Given the description of an element on the screen output the (x, y) to click on. 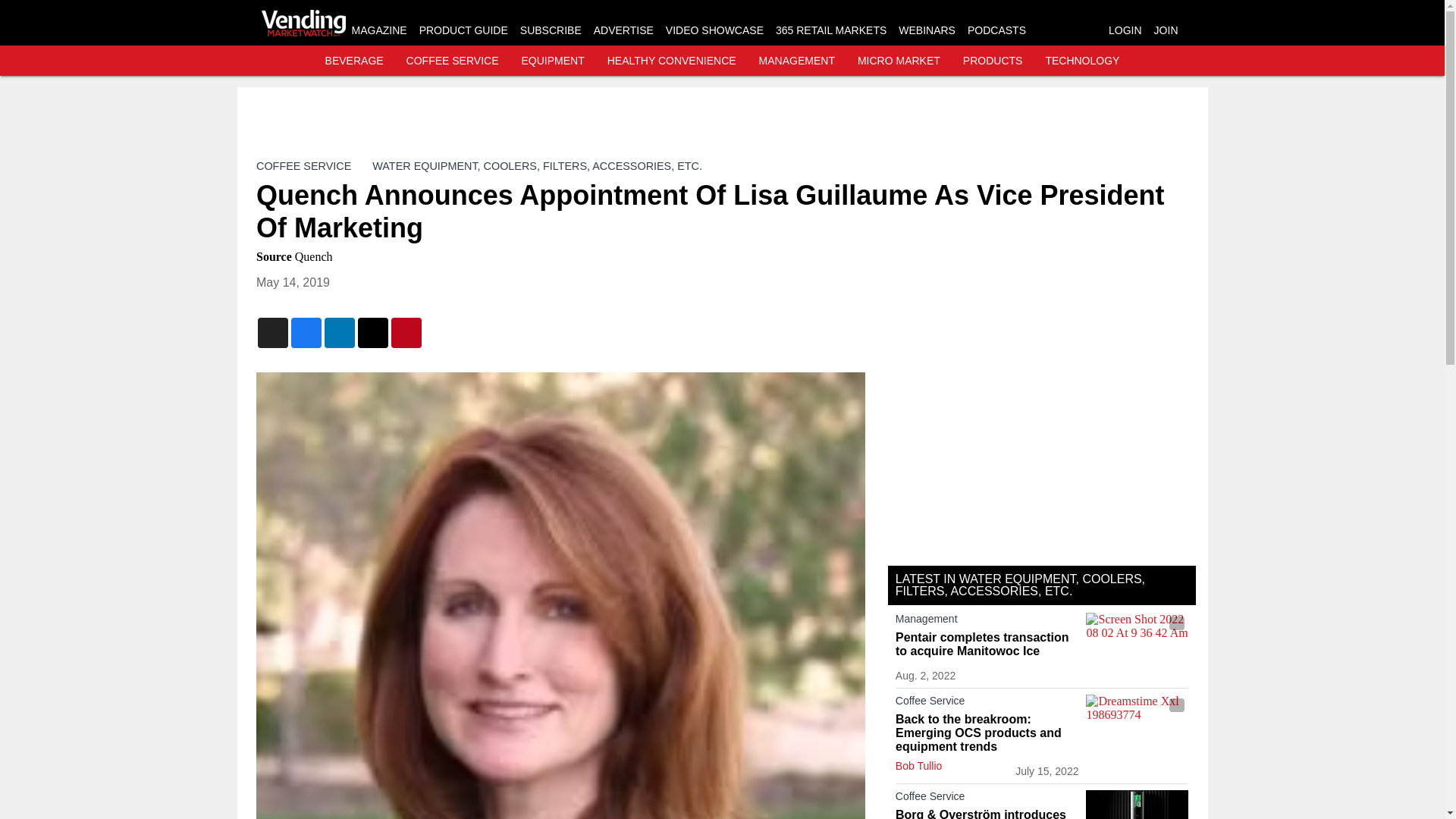
MANAGEMENT (796, 60)
HEALTHY CONVENIENCE (671, 60)
EQUIPMENT (553, 60)
Screen Shot 2022 08 02 At 9 36 42 Am (1137, 640)
MAGAZINE (379, 30)
SUBSCRIBE (549, 30)
ADVERTISE (623, 30)
WEBINARS (926, 30)
COFFEE SERVICE (452, 60)
